Given the description of an element on the screen output the (x, y) to click on. 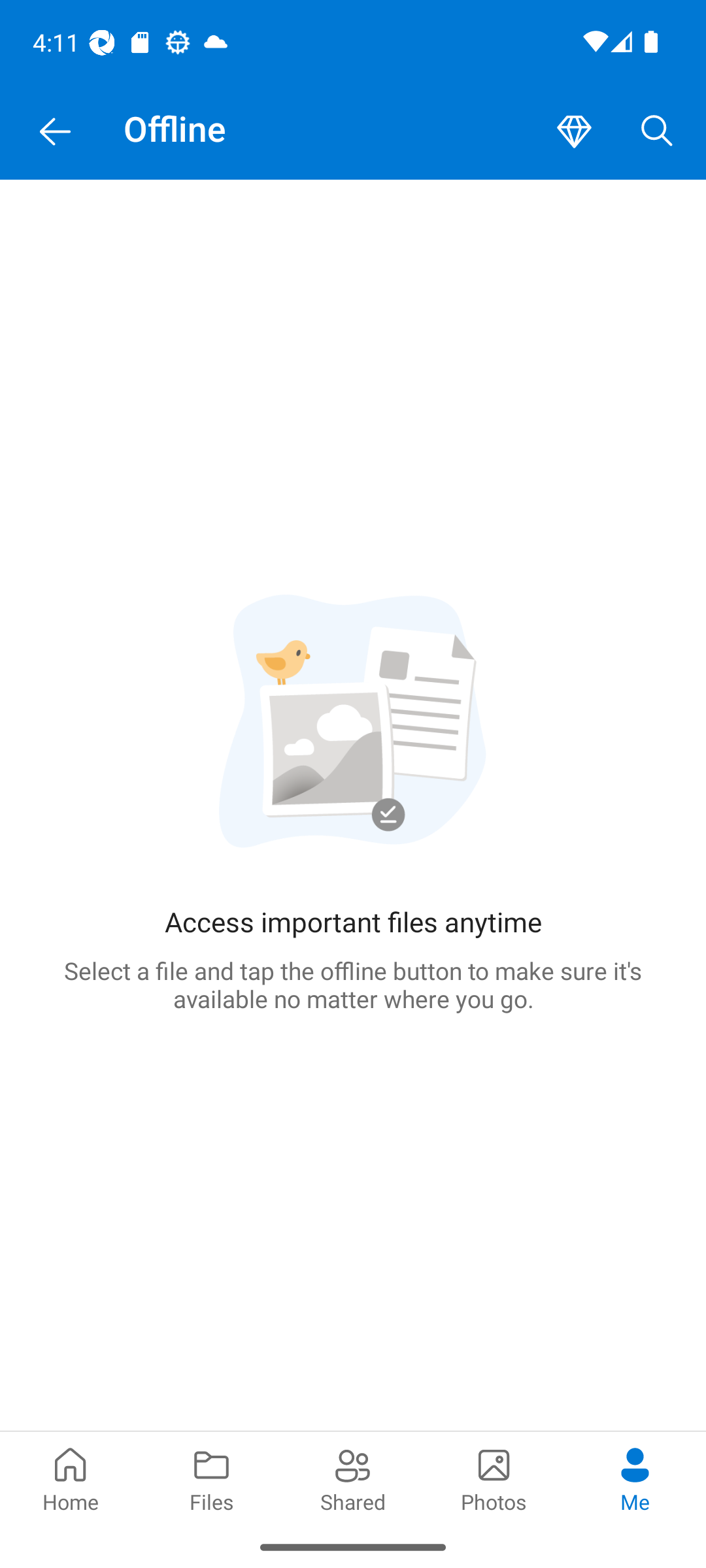
Navigate Up (55, 131)
Premium button (574, 131)
Search button (656, 131)
Home pivot Home (70, 1478)
Files pivot Files (211, 1478)
Shared pivot Shared (352, 1478)
Photos pivot Photos (493, 1478)
